Given the description of an element on the screen output the (x, y) to click on. 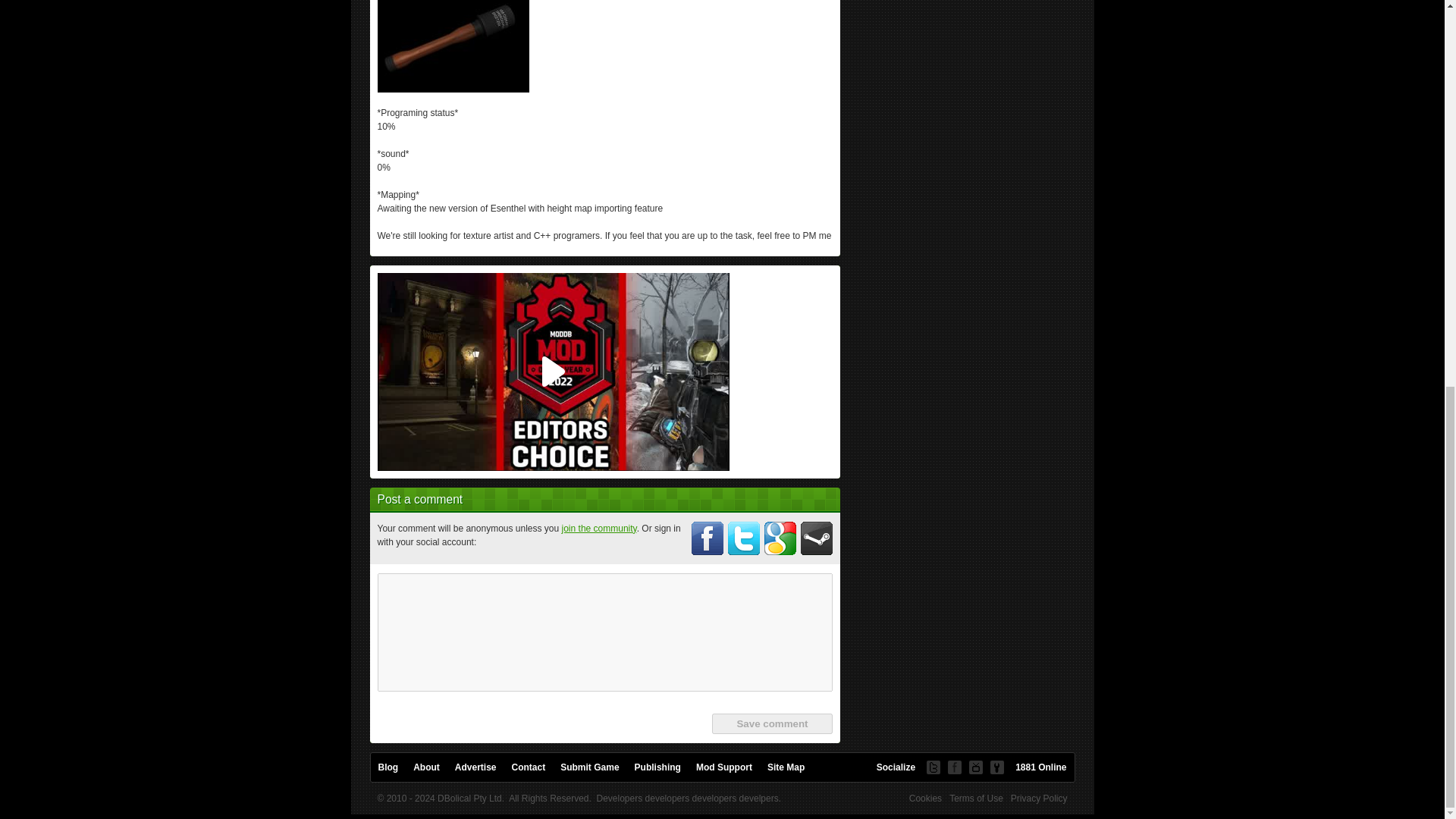
Save comment (771, 723)
Click to connect via Steam (816, 538)
Model 24 Stielhandgranate - Mod DB (453, 34)
Click to connect via Google (780, 538)
